Given the description of an element on the screen output the (x, y) to click on. 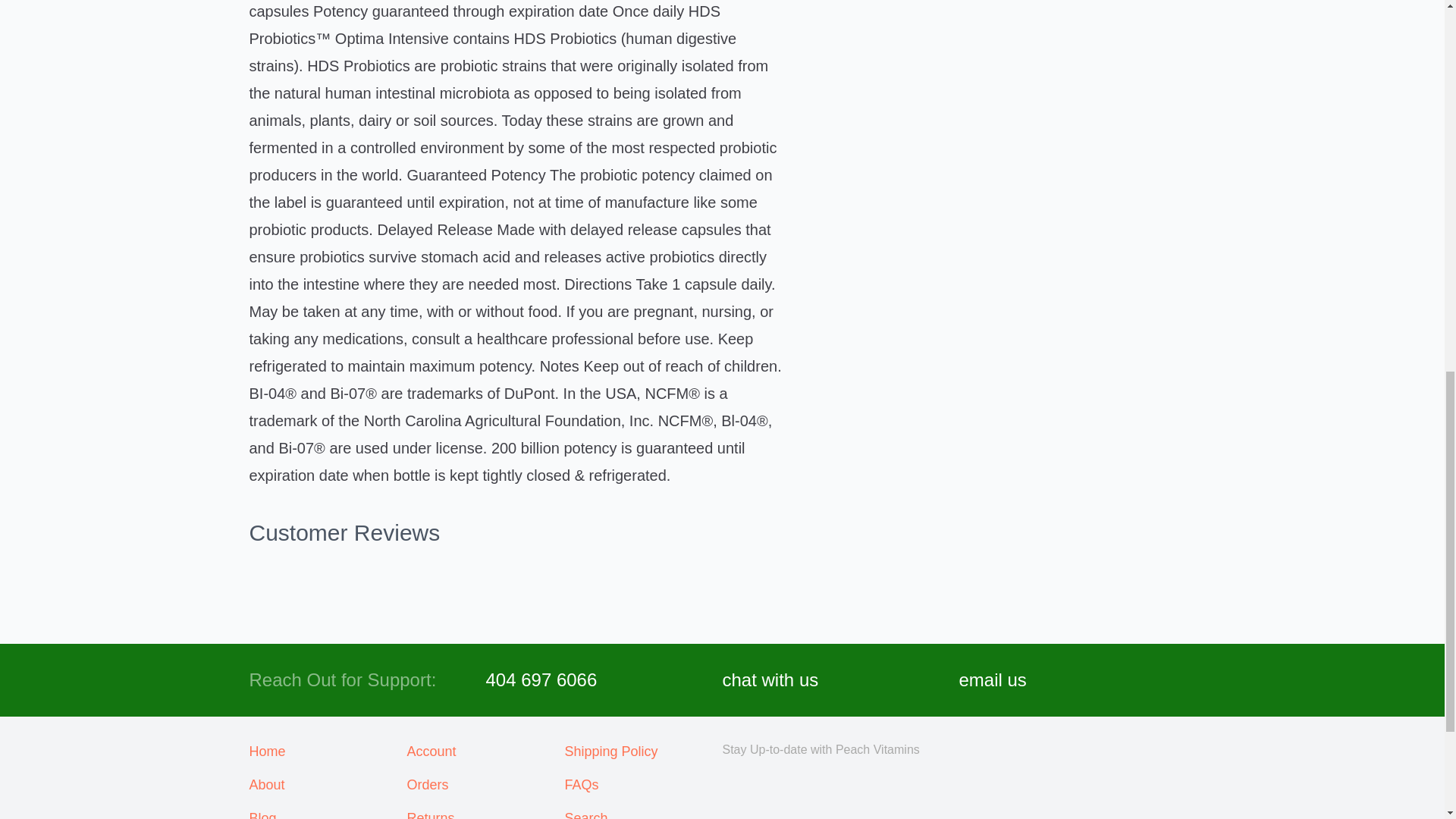
404 697 6066 (540, 680)
Home (327, 751)
email us (992, 680)
chat with us (770, 680)
